Given the description of an element on the screen output the (x, y) to click on. 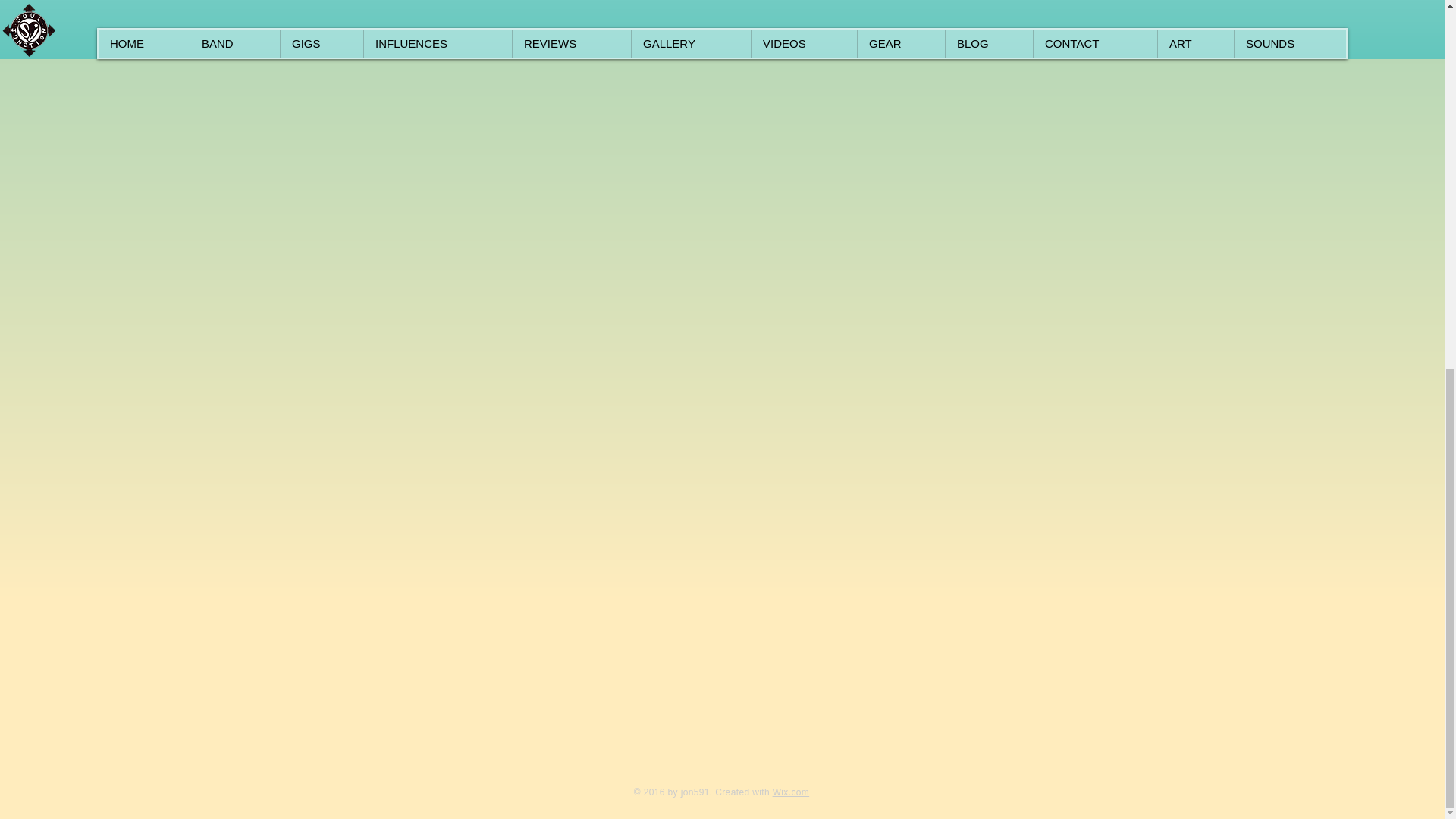
Wix.com (791, 792)
